Given the description of an element on the screen output the (x, y) to click on. 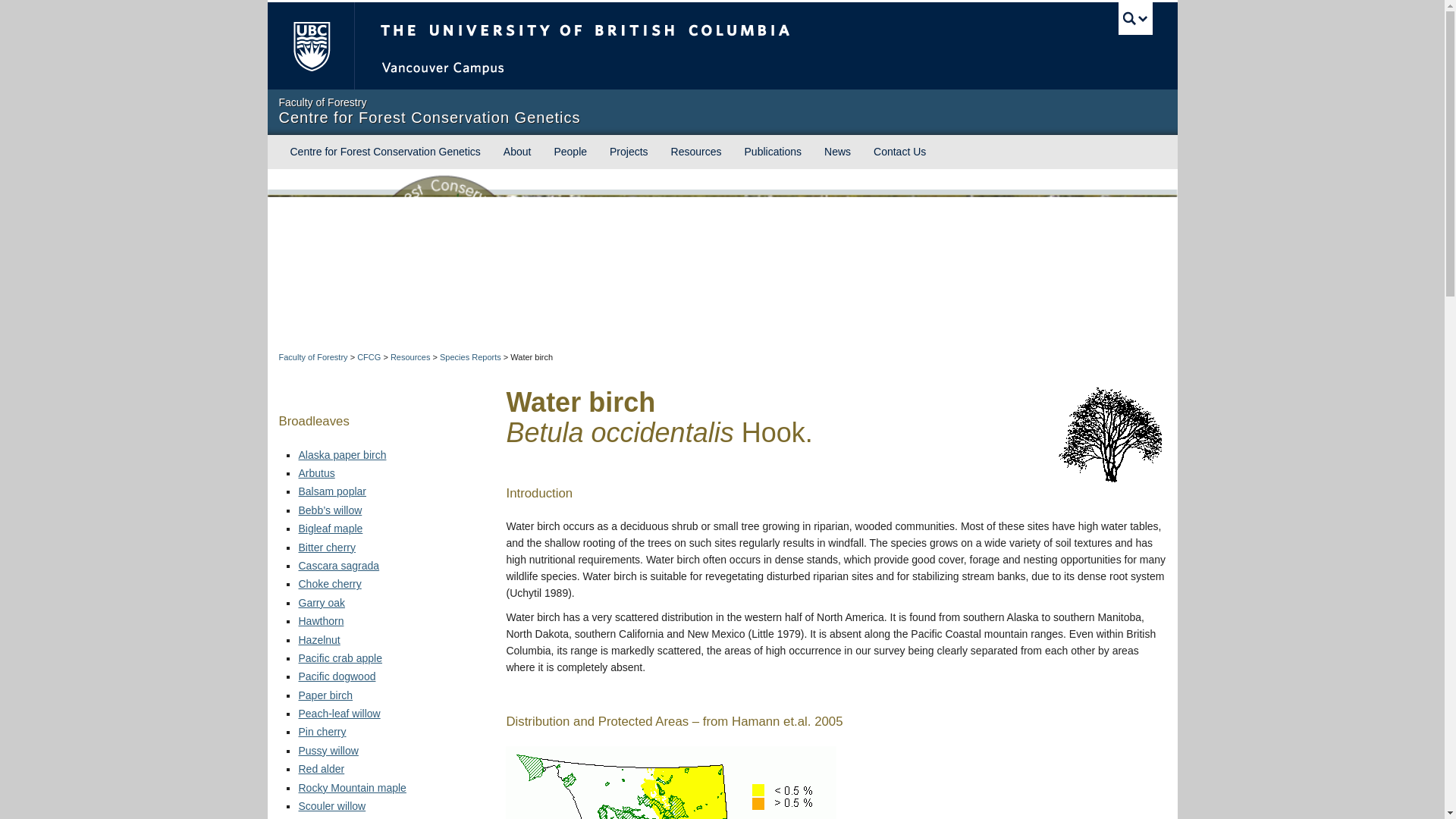
Bigleaf maple (330, 528)
Garry oak (321, 603)
Paper birch (325, 695)
People (569, 151)
Faculty of Forestry (313, 356)
Scouler willow (332, 806)
Centre for Forest Conservation Genetics (385, 151)
Species Reports (469, 356)
CFCG (368, 356)
Bitter cherry (326, 547)
Resources (410, 356)
Resources (410, 356)
Projects (628, 151)
The University of British Columbia (635, 45)
